Given the description of an element on the screen output the (x, y) to click on. 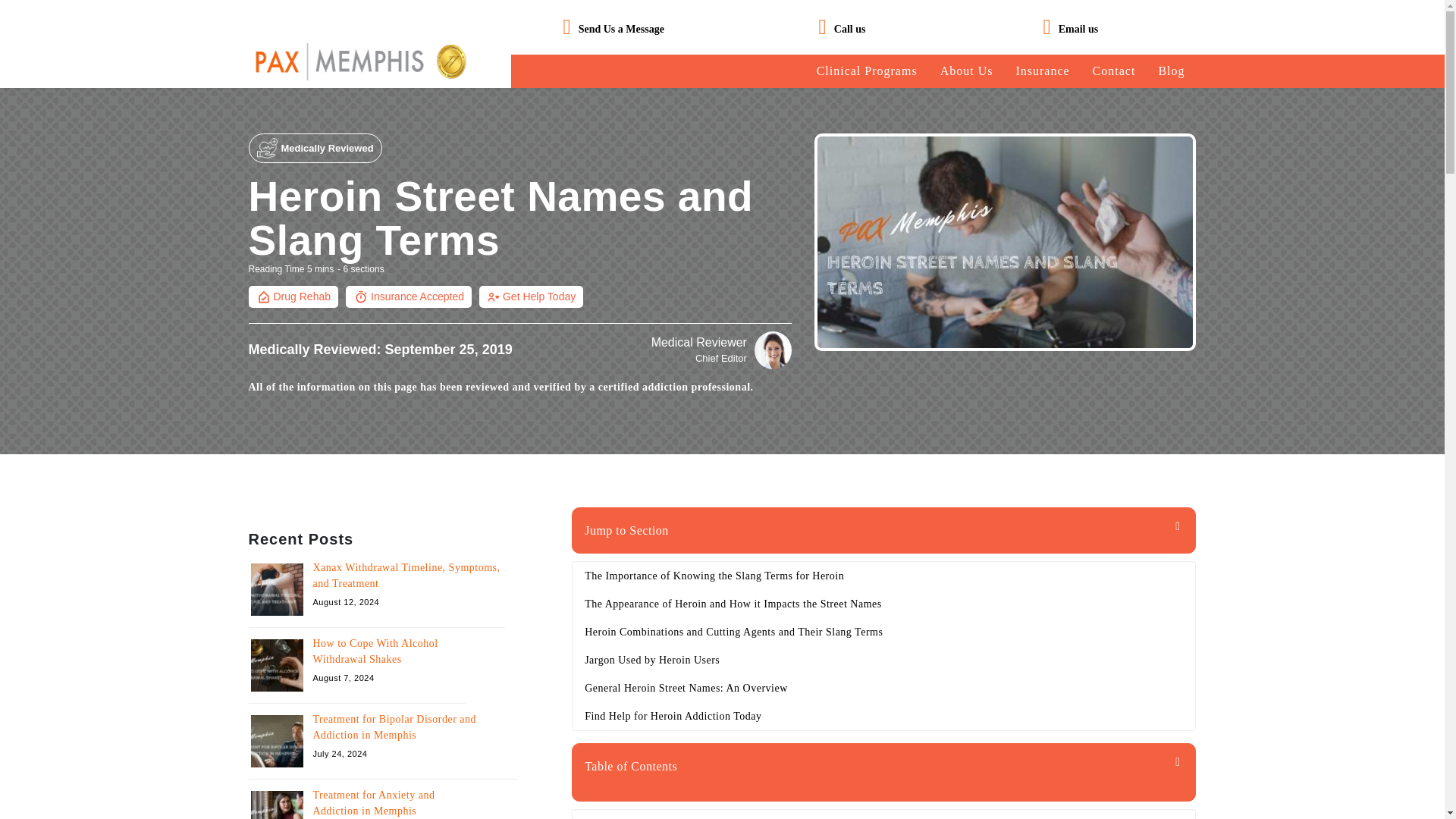
The Importance of Knowing the Slang Terms for Heroin (883, 575)
Heroin Combinations and Cutting Agents and Their Slang Terms (883, 632)
About Us (966, 70)
Insurance (1041, 70)
Clinical Programs (866, 70)
Send Us a Message (620, 29)
The Importance of Knowing the Slang Terms for Heroin (883, 814)
The Appearance of Heroin and How it Impacts the Street Names (883, 603)
Contact (1114, 70)
Find Help for Heroin Addiction Today (883, 715)
